Given the description of an element on the screen output the (x, y) to click on. 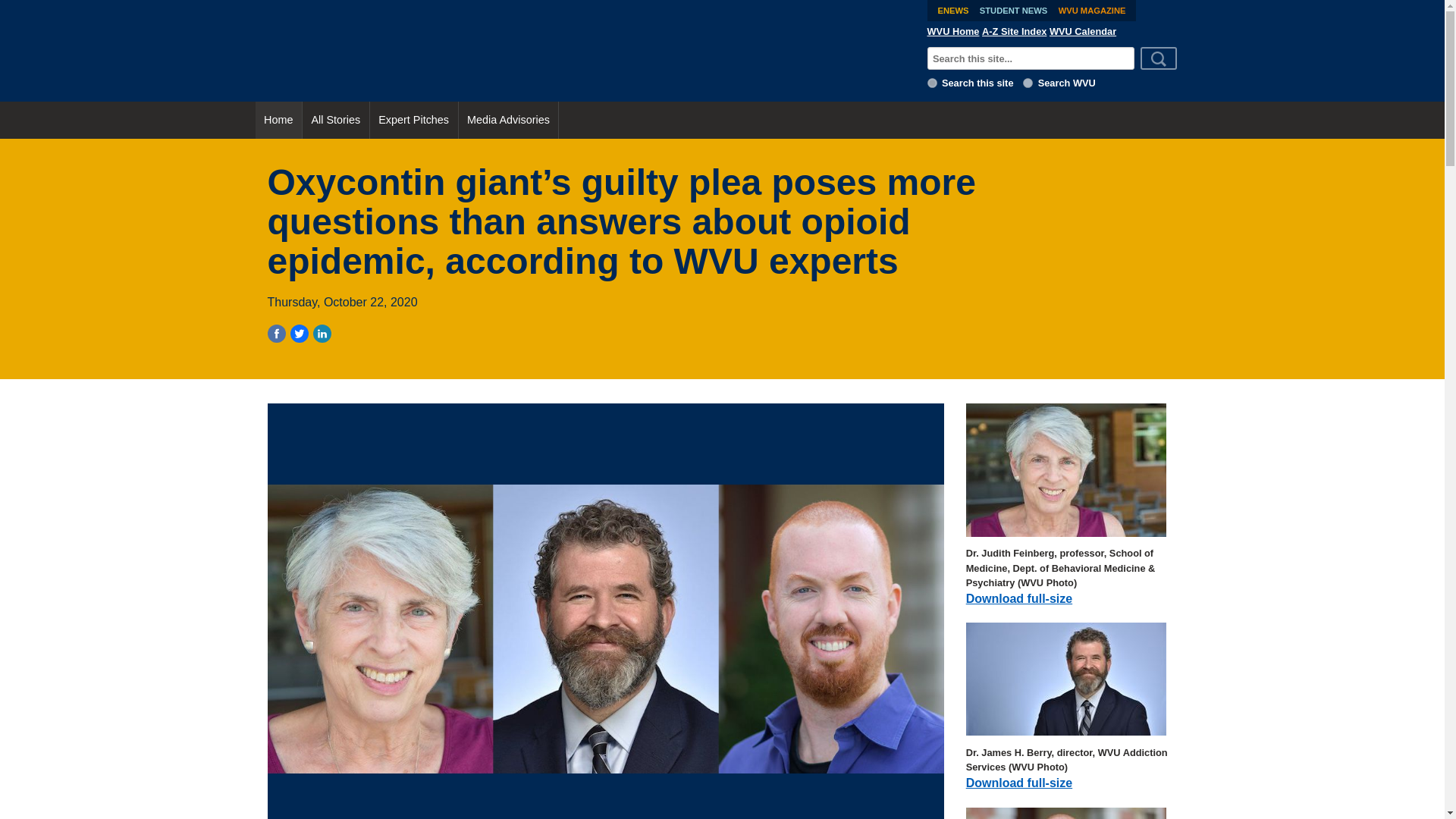
WVU Today (585, 50)
wvutoday.wvu.edu (932, 82)
Search (1158, 57)
Expert Pitches (413, 119)
wvu.edu (1027, 82)
Download full-size (1018, 598)
All Stories (335, 119)
Home (277, 119)
Media Advisories (508, 119)
Search (1158, 57)
